Given the description of an element on the screen output the (x, y) to click on. 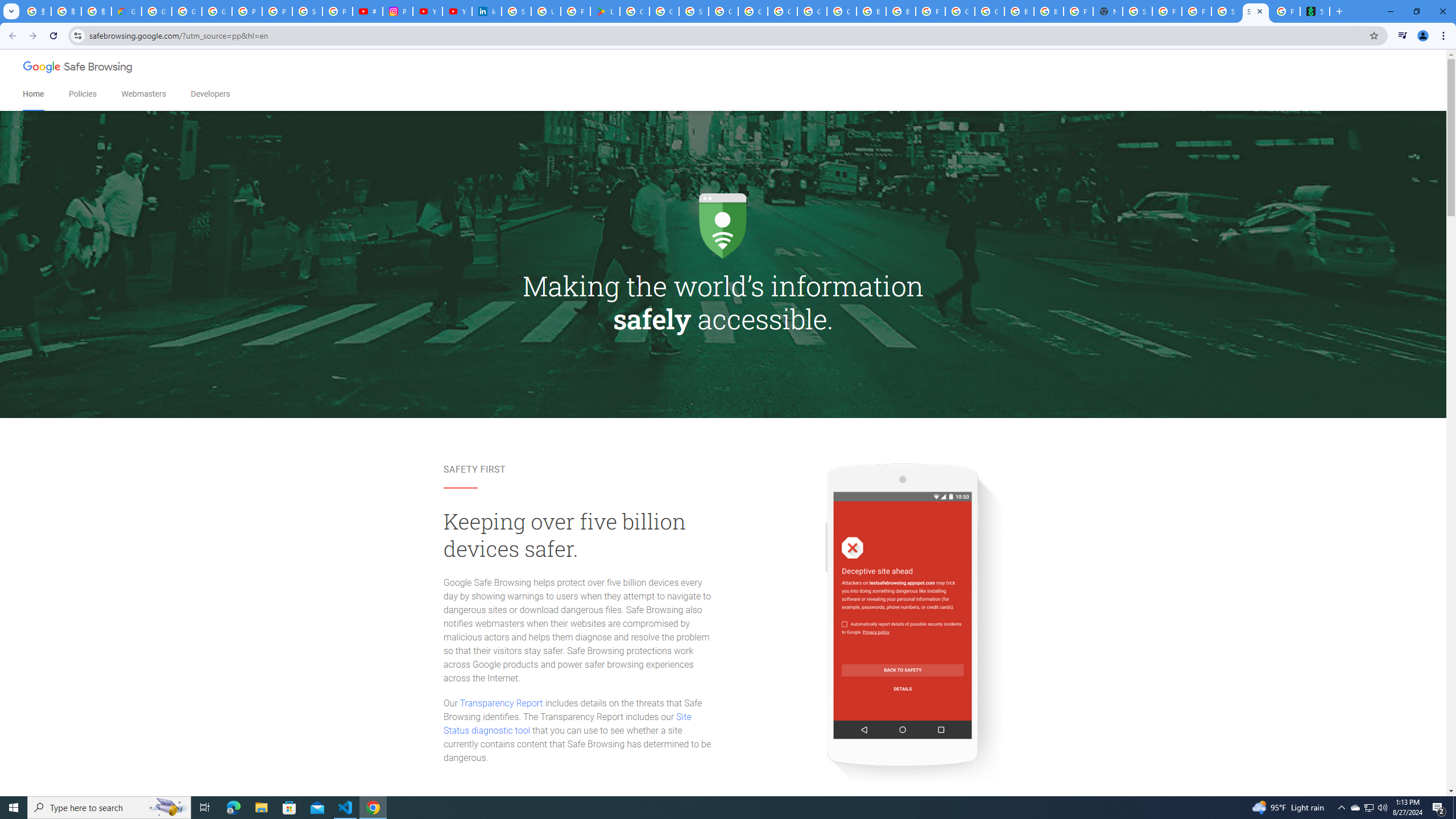
Google Cloud Platform (782, 11)
Last Shelter: Survival - Apps on Google Play (604, 11)
Sign in - Google Accounts (515, 11)
Privacy Help Center - Policies Help (277, 11)
YouTube Culture & Trends - On The Rise: Handcam Videos (426, 11)
Google Workspace - Specific Terms (664, 11)
Browse Chrome as a guest - Computer - Google Chrome Help (871, 11)
Google Cloud Platform (989, 11)
Google Safe Browsing (78, 68)
